Given the description of an element on the screen output the (x, y) to click on. 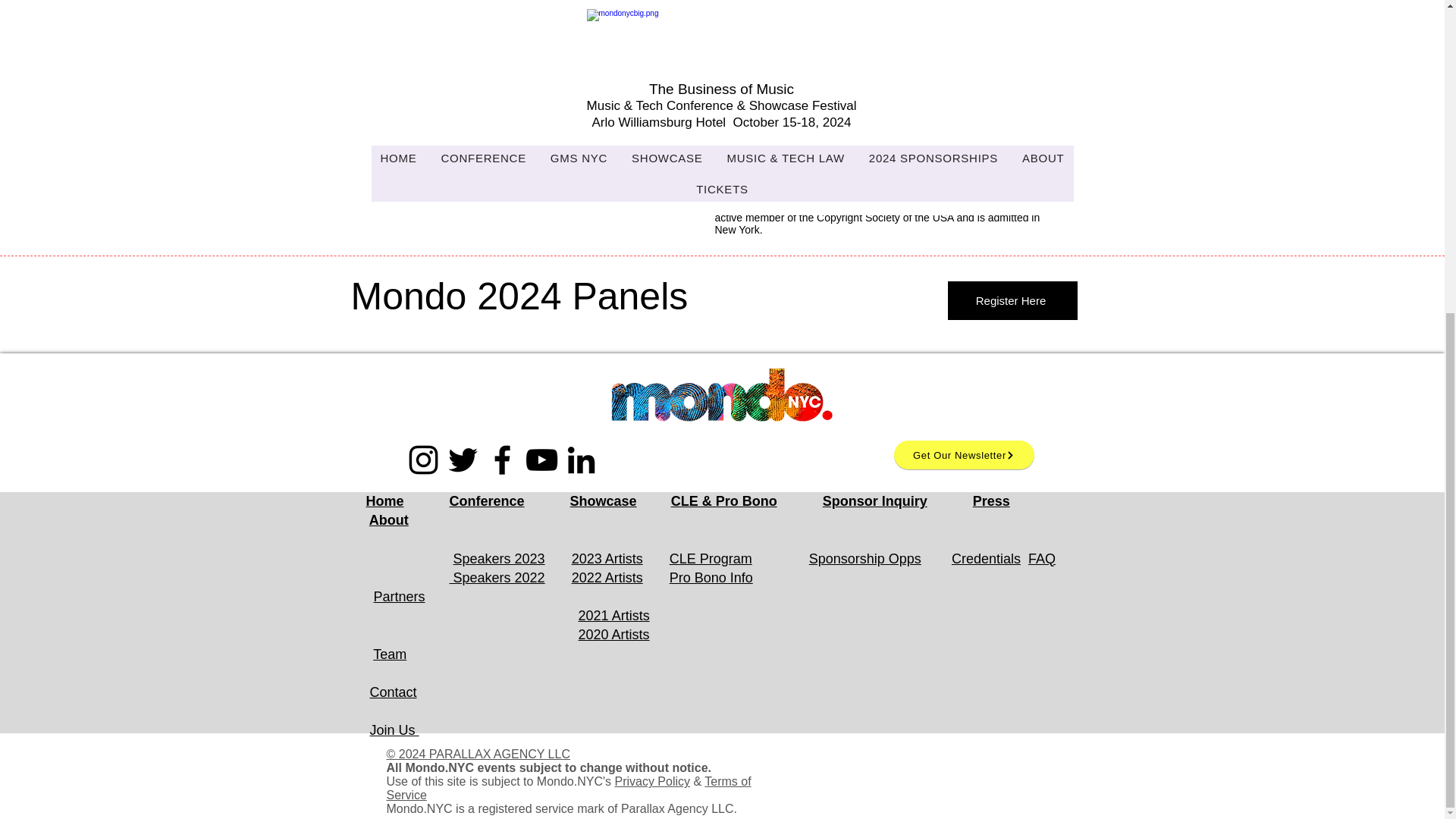
Link (624, 115)
Mondo Speakers 2024 (457, 115)
Lisa Weiss.png (541, 35)
